Given the description of an element on the screen output the (x, y) to click on. 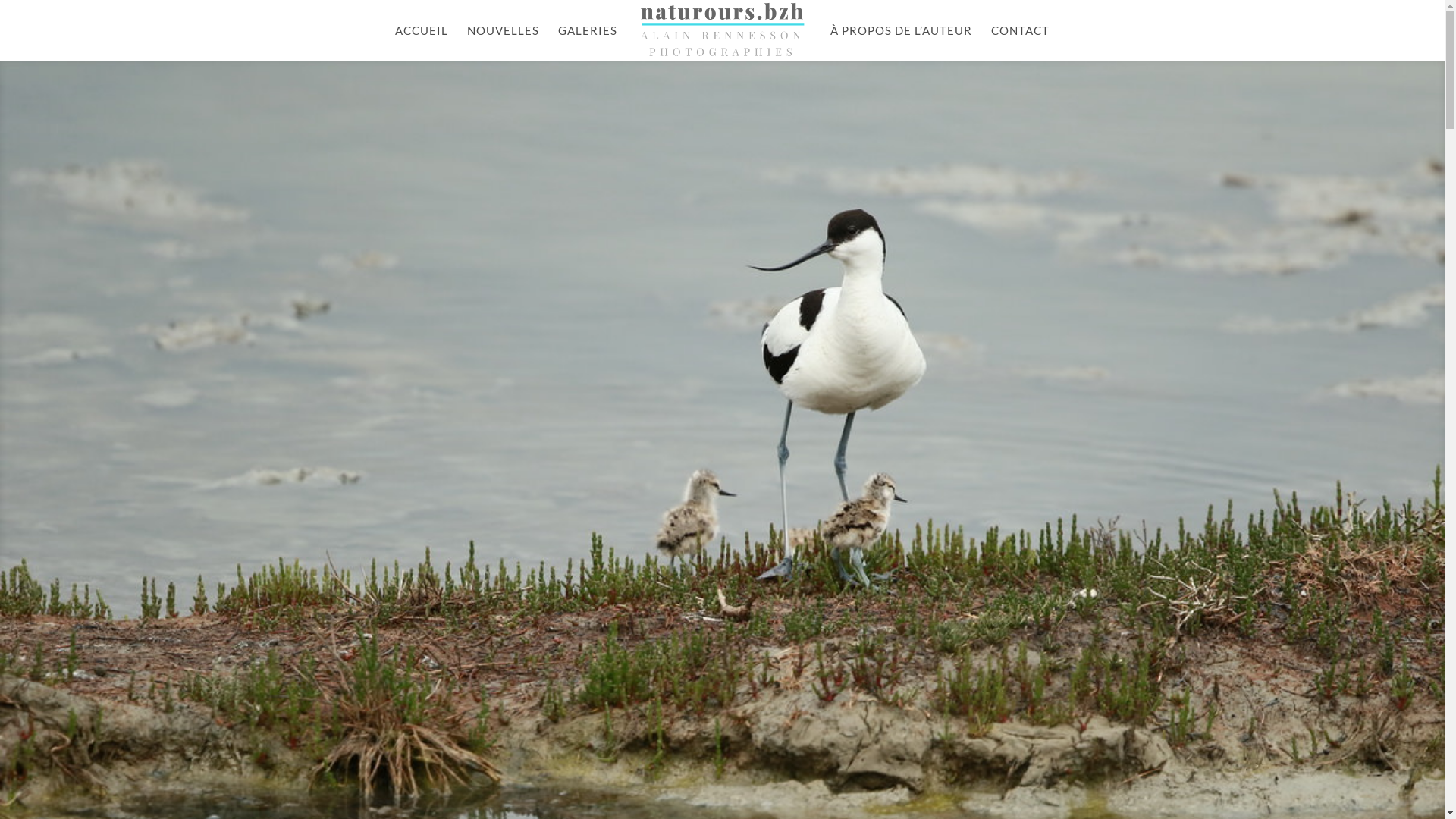
GALERIES Element type: text (587, 42)
ACCUEIL Element type: text (421, 42)
NOUVELLES Element type: text (503, 42)
CONTACT Element type: text (1020, 42)
